Given the description of an element on the screen output the (x, y) to click on. 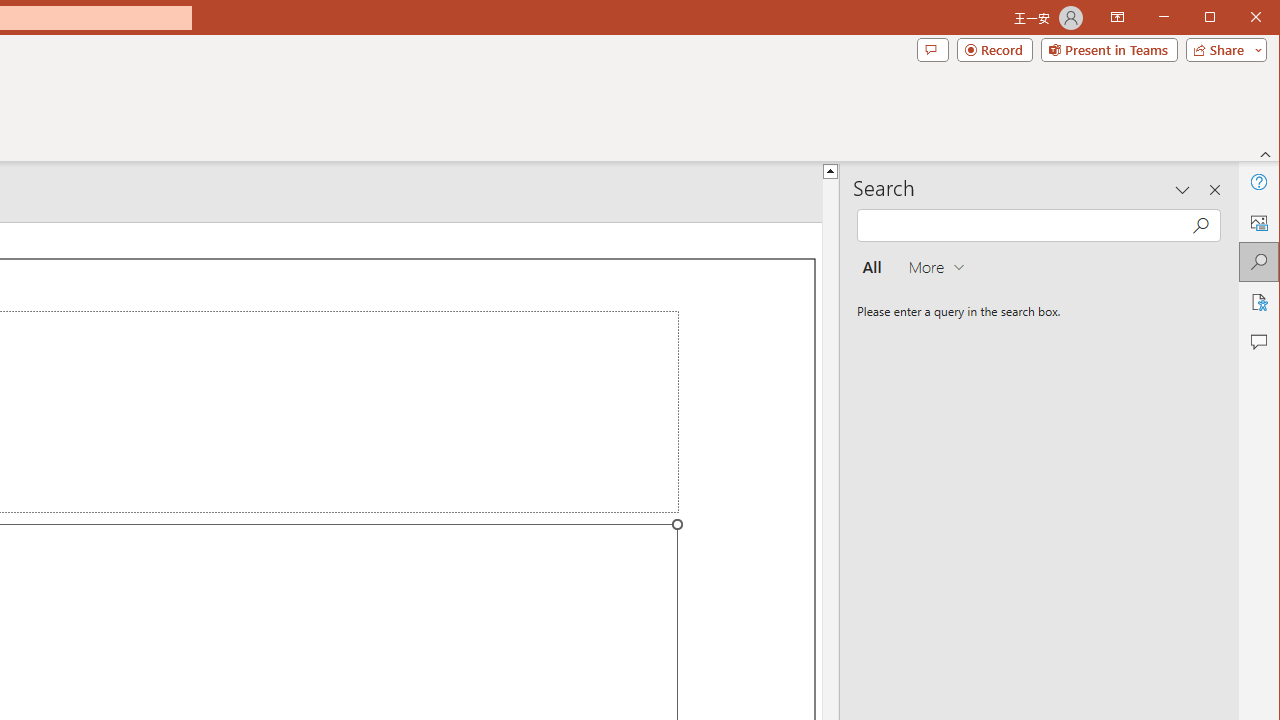
Collapse the Ribbon (1266, 154)
Line up (829, 170)
Present in Teams (1108, 49)
